Given the description of an element on the screen output the (x, y) to click on. 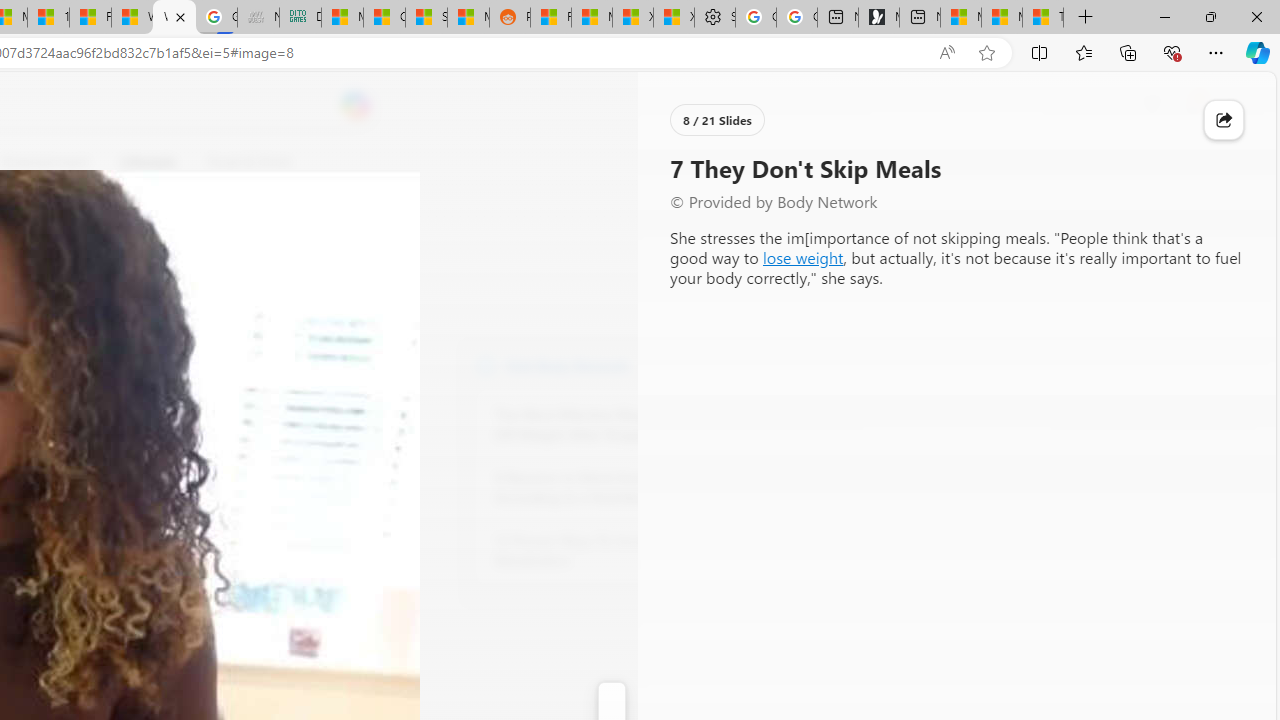
Food & Drink (249, 162)
Personalize (711, 162)
Entertainment (45, 162)
Go to publisher's site (180, 258)
lose weight (802, 256)
Lifestyle (148, 162)
12 Proven Ways To Increase Your Metabolism (603, 550)
Microsoft rewards (1151, 105)
Navy Quest (258, 17)
